Given the description of an element on the screen output the (x, y) to click on. 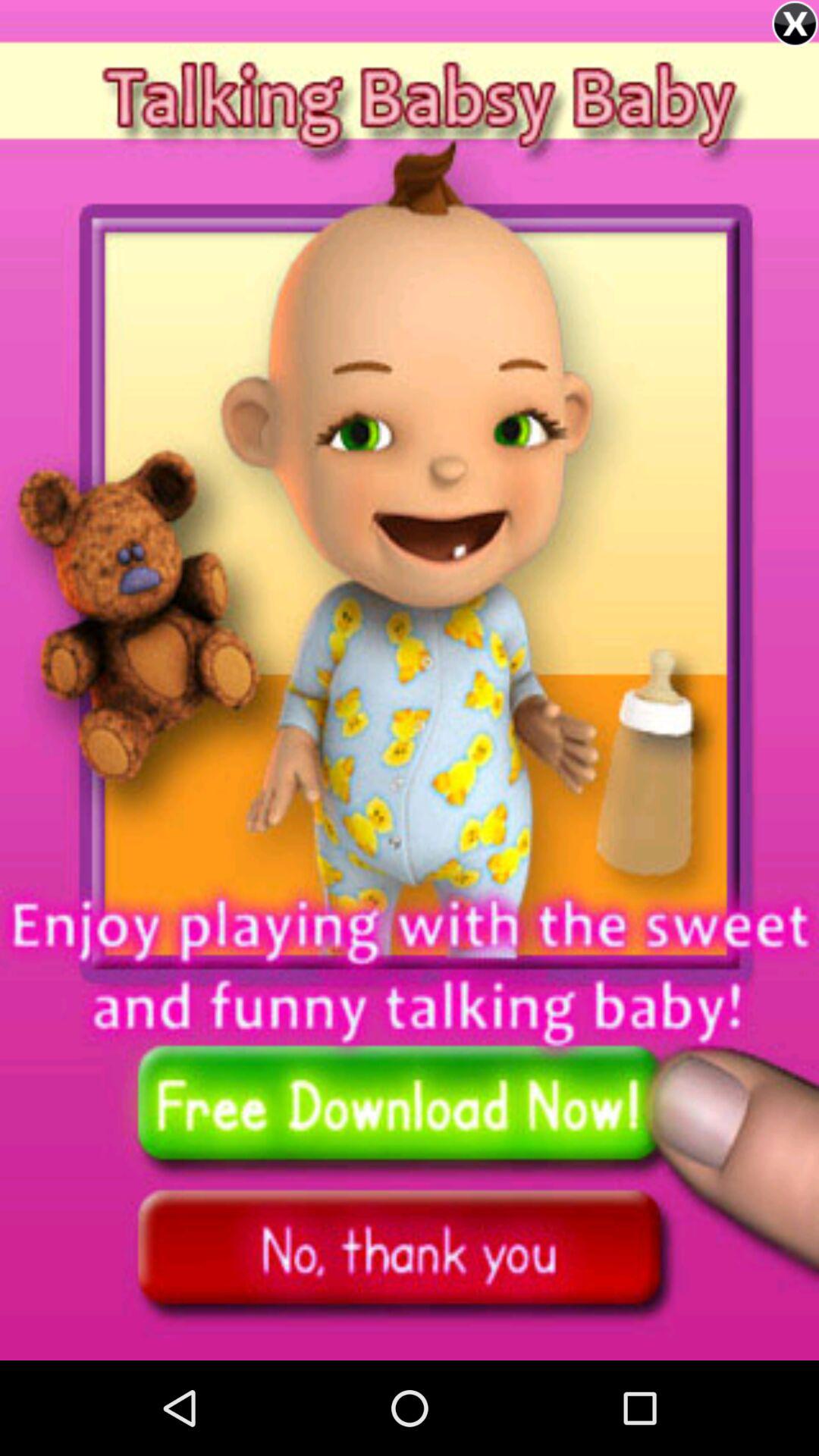
game close button (795, 23)
